Given the description of an element on the screen output the (x, y) to click on. 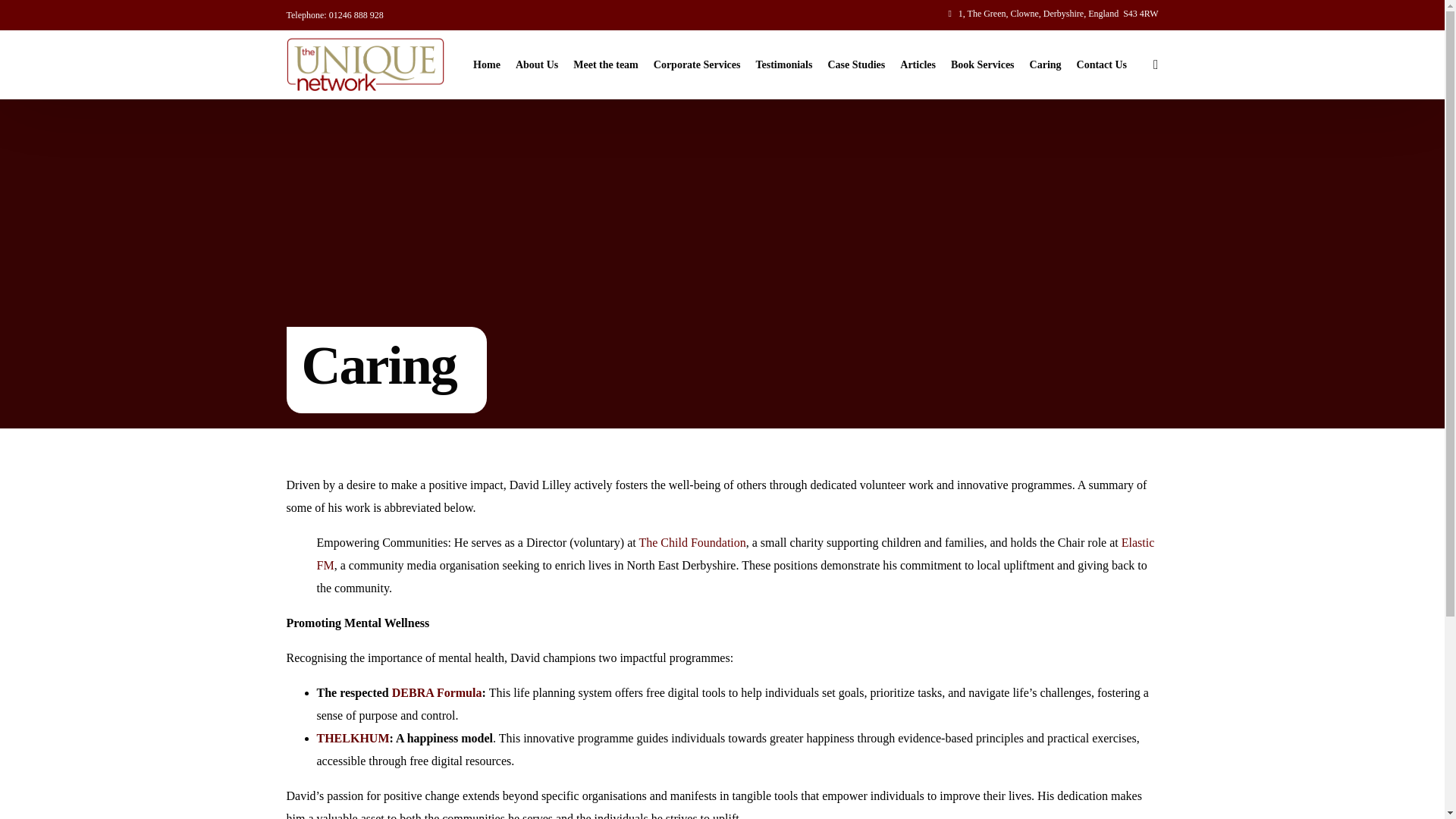
Contact Us (1101, 64)
Meet the team (606, 64)
Case Studies (855, 64)
The Child Foundation (692, 542)
THELKHUM (353, 738)
Corporate Services (697, 64)
Testimonials (783, 64)
Book Services (982, 64)
Elastic FM (735, 553)
DEBRA Formula (436, 692)
